Given the description of an element on the screen output the (x, y) to click on. 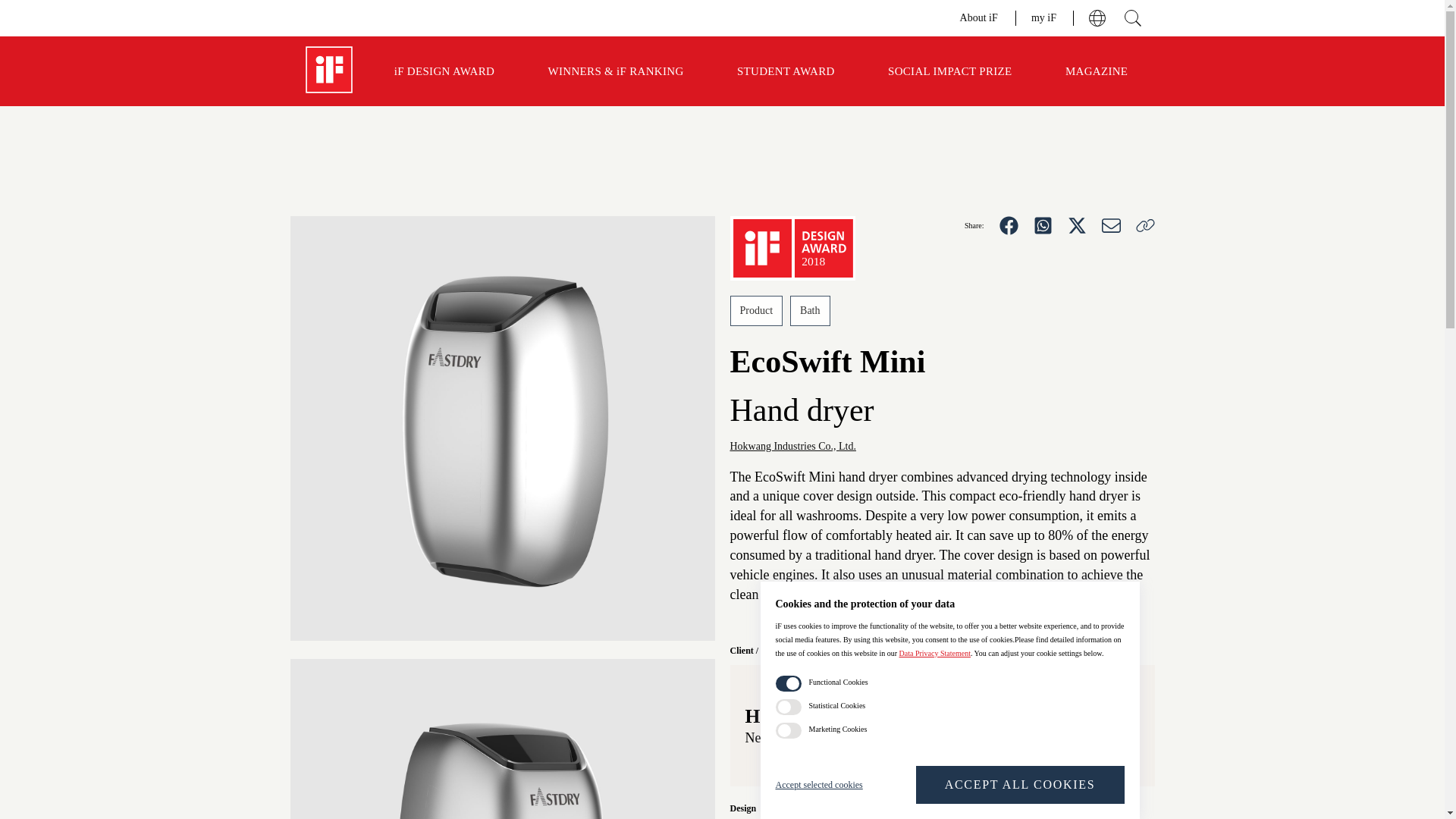
Accept selected cookies (829, 784)
2018 (791, 248)
my iF (1044, 16)
Data Privacy Statement (935, 653)
ACCEPT ALL COOKIES (1019, 784)
About iF (979, 16)
